Given the description of an element on the screen output the (x, y) to click on. 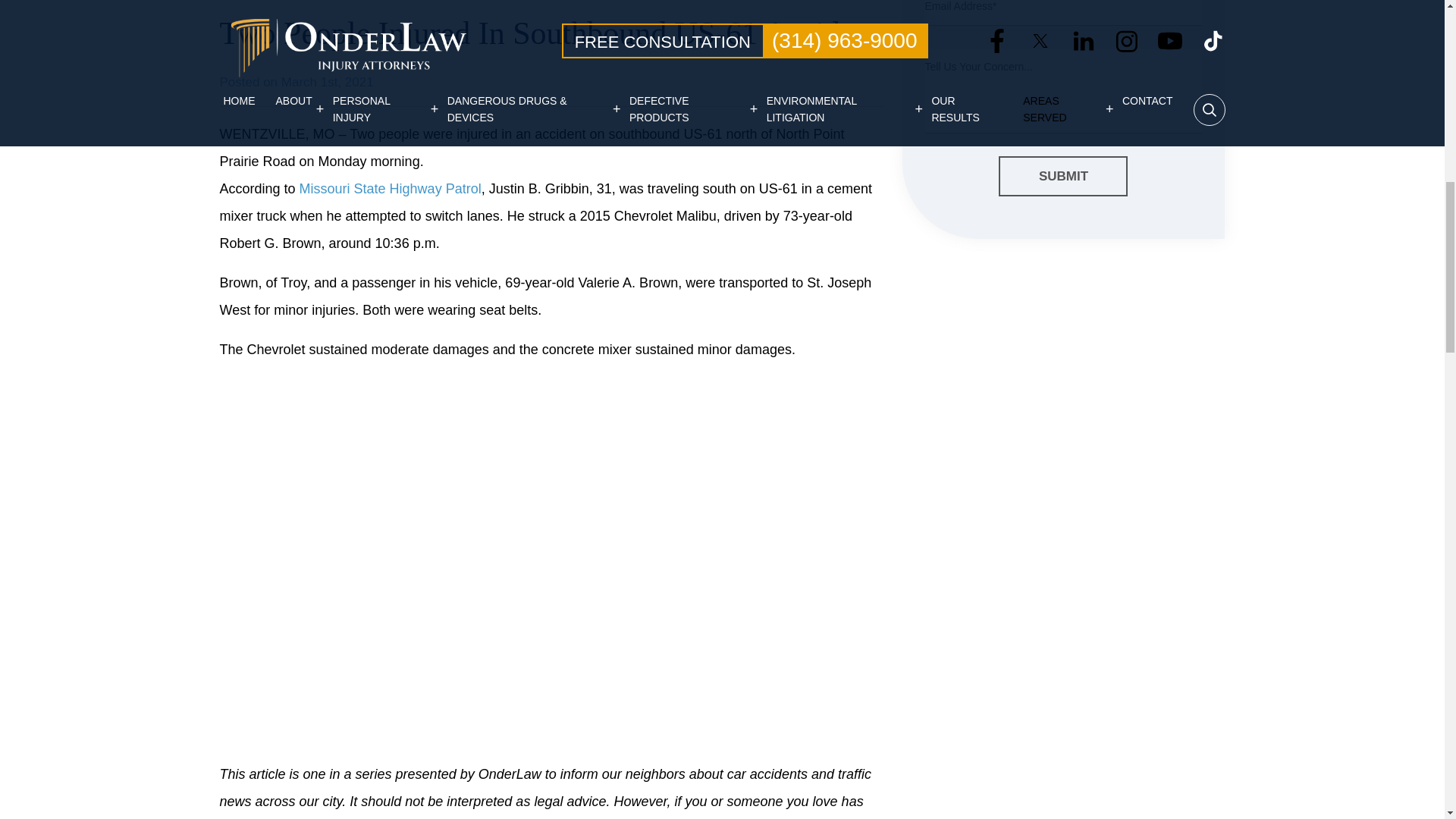
Submit (1062, 176)
